Given the description of an element on the screen output the (x, y) to click on. 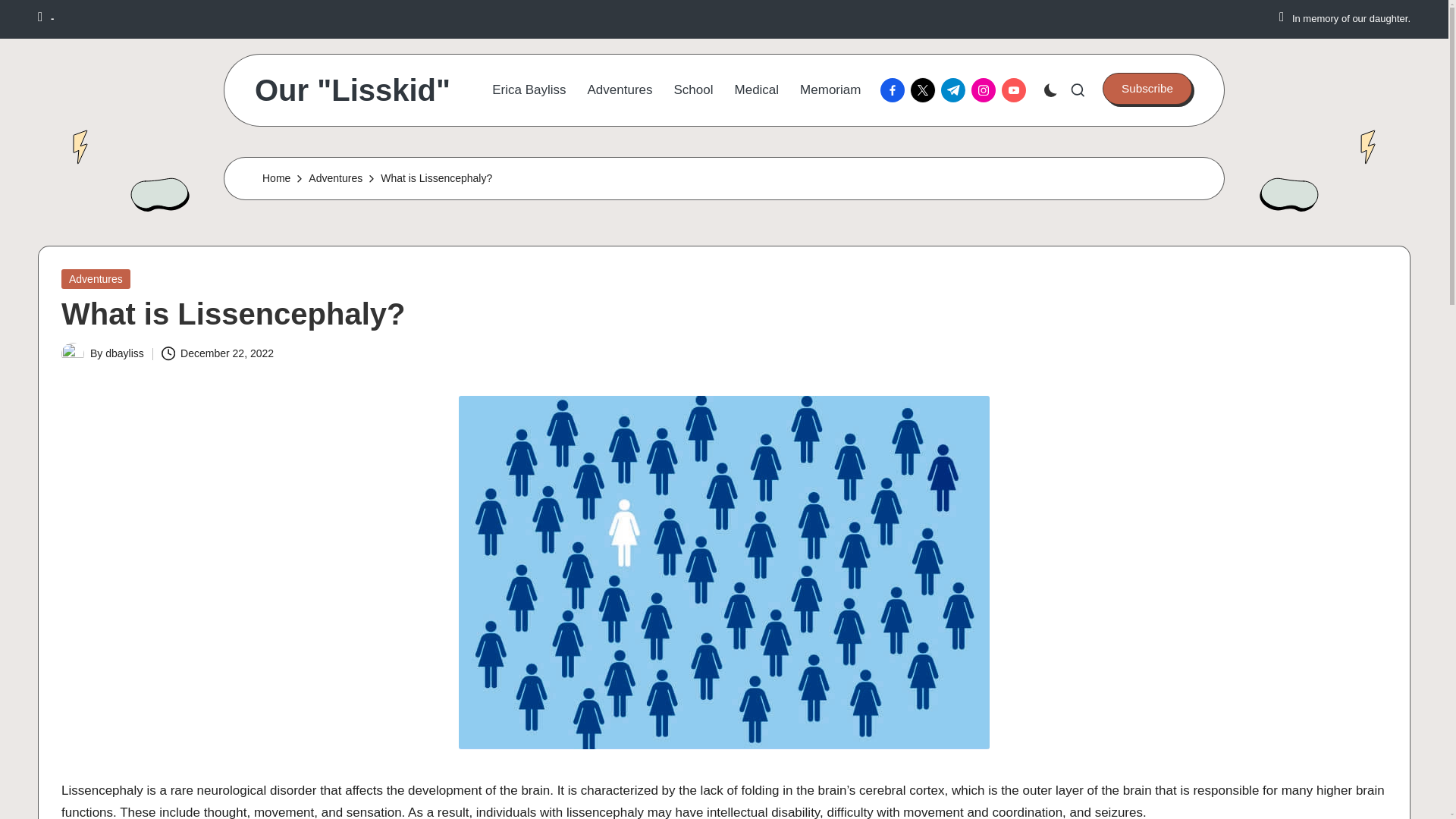
facebook.com (895, 89)
Erica Bayliss (529, 89)
twitter.com (925, 89)
View all posts by dbayliss (124, 353)
Adventures (96, 278)
dbayliss (124, 353)
Medical (756, 89)
Our "Lisskid" (351, 90)
instagram.com (986, 89)
Adventures (620, 89)
Home (275, 178)
Adventures (335, 178)
Subscribe (1147, 88)
youtube.com (1016, 89)
t.me (955, 89)
